Given the description of an element on the screen output the (x, y) to click on. 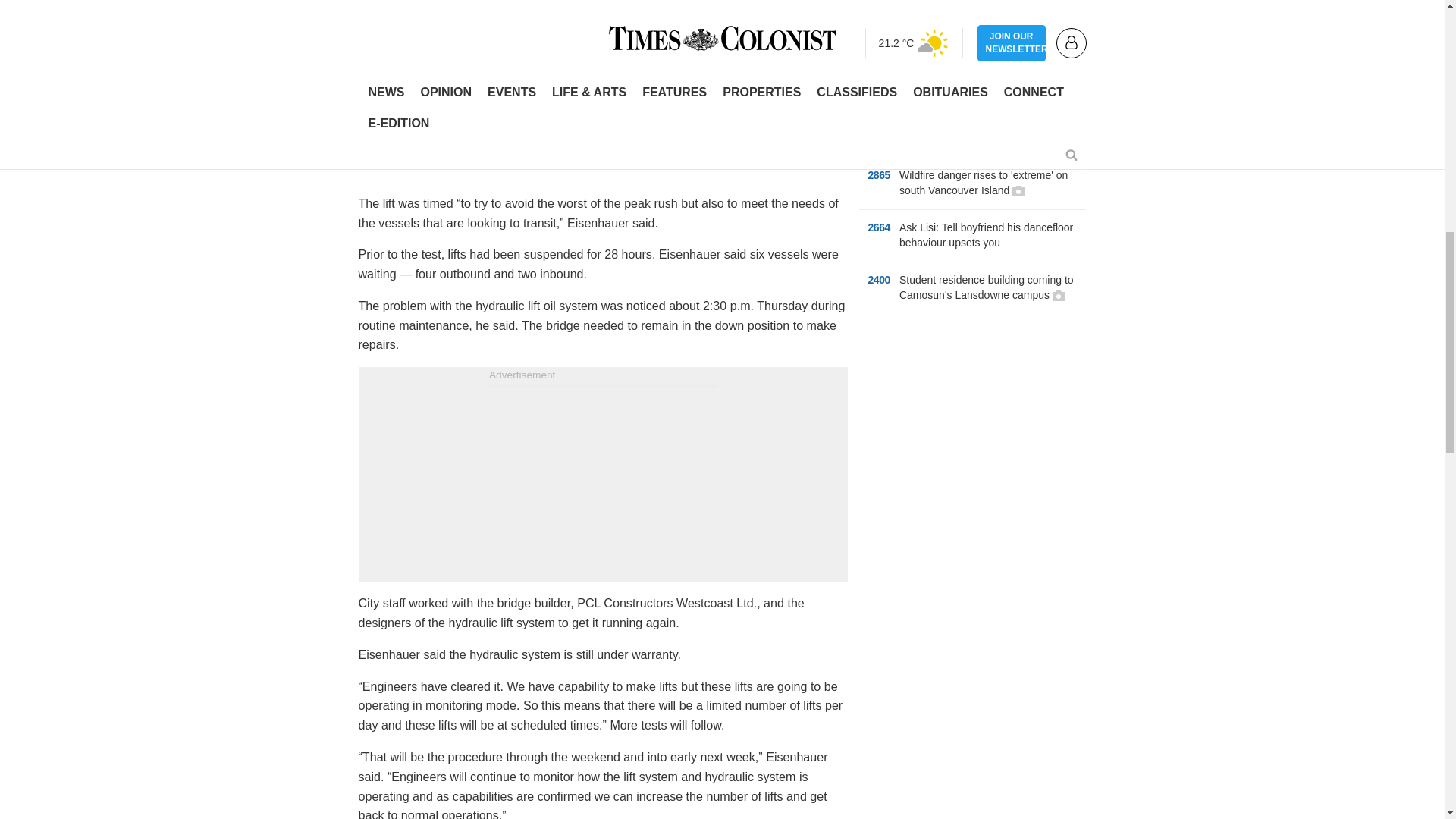
Has a gallery (1058, 295)
Has a gallery (1018, 191)
3rd party ad content (972, 423)
3rd party ad content (602, 482)
